Given the description of an element on the screen output the (x, y) to click on. 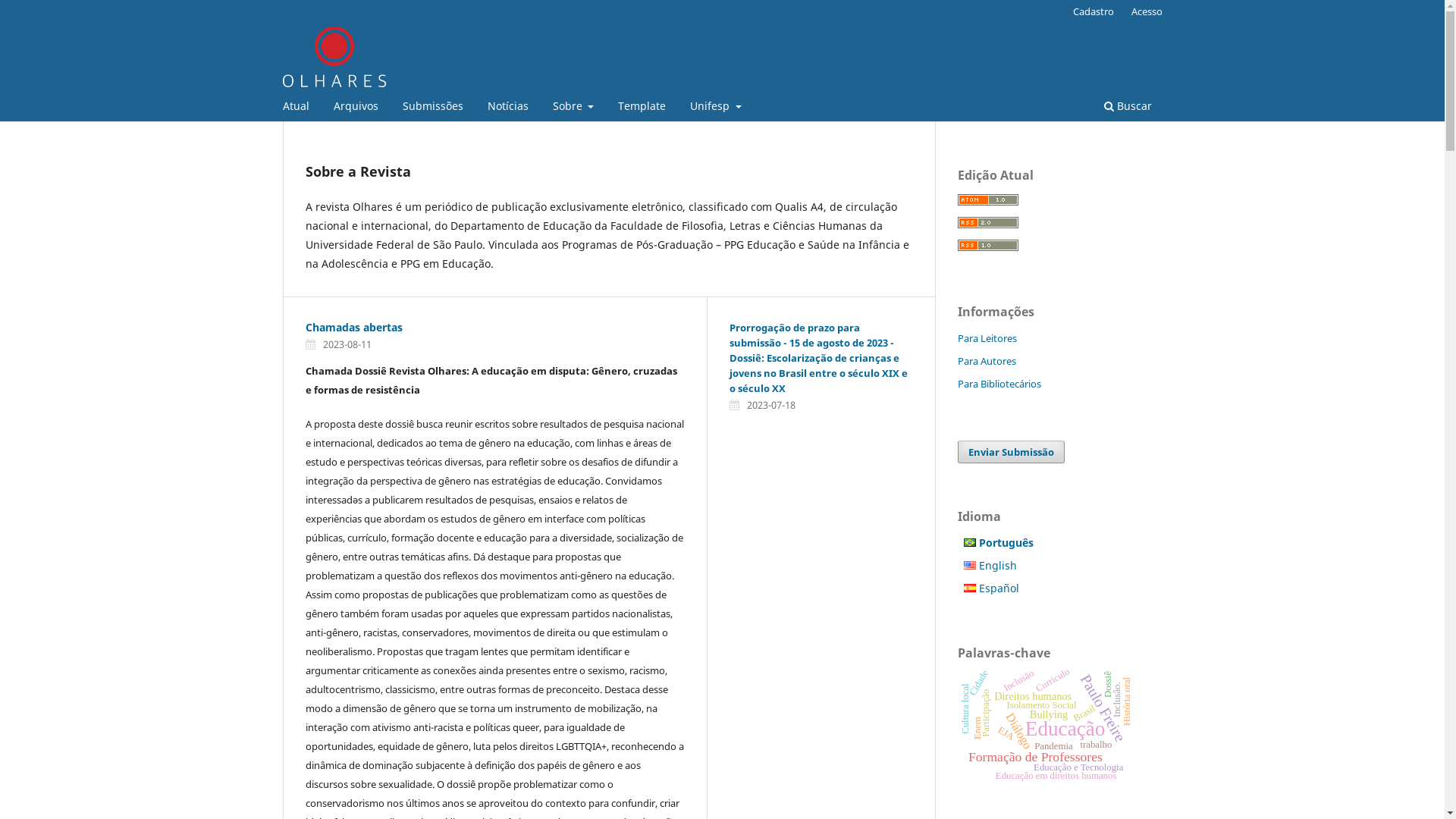
  English Element type: text (986, 565)
Acesso Element type: text (1146, 11)
Para Leitores Element type: text (986, 338)
Para Autores Element type: text (986, 360)
Atual Element type: text (295, 107)
Cadastro Element type: text (1093, 11)
Chamadas abertas Element type: text (352, 327)
Template Element type: text (641, 107)
Unifesp Element type: text (715, 107)
Arquivos Element type: text (354, 107)
Sobre Element type: text (573, 107)
Buscar Element type: text (1127, 107)
